Given the description of an element on the screen output the (x, y) to click on. 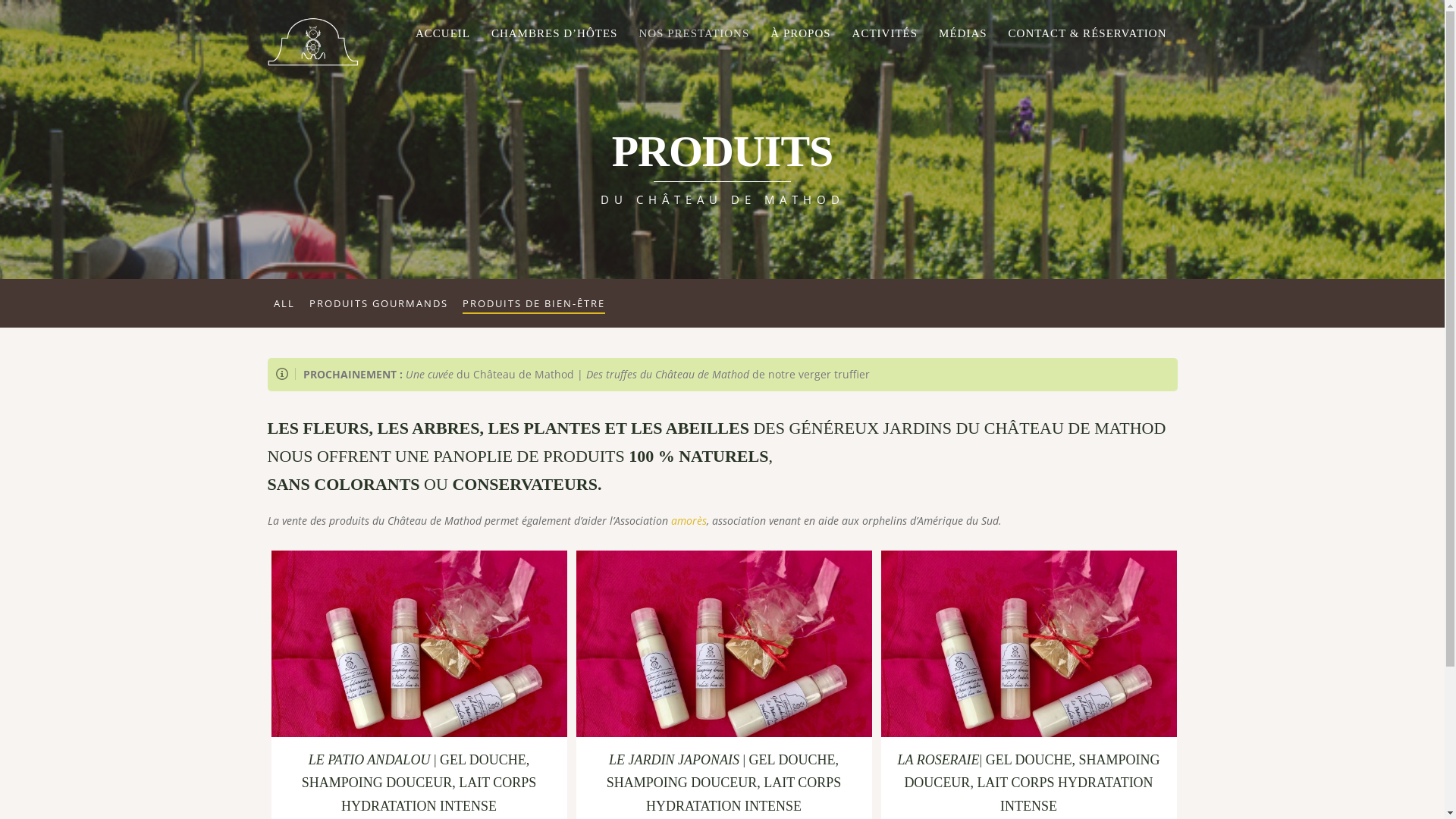
PRODUITS GOURMANDS Element type: text (378, 303)
ACCUEIL Element type: text (442, 33)
NOS PRESTATIONS Element type: text (693, 33)
ALL Element type: text (283, 303)
